Given the description of an element on the screen output the (x, y) to click on. 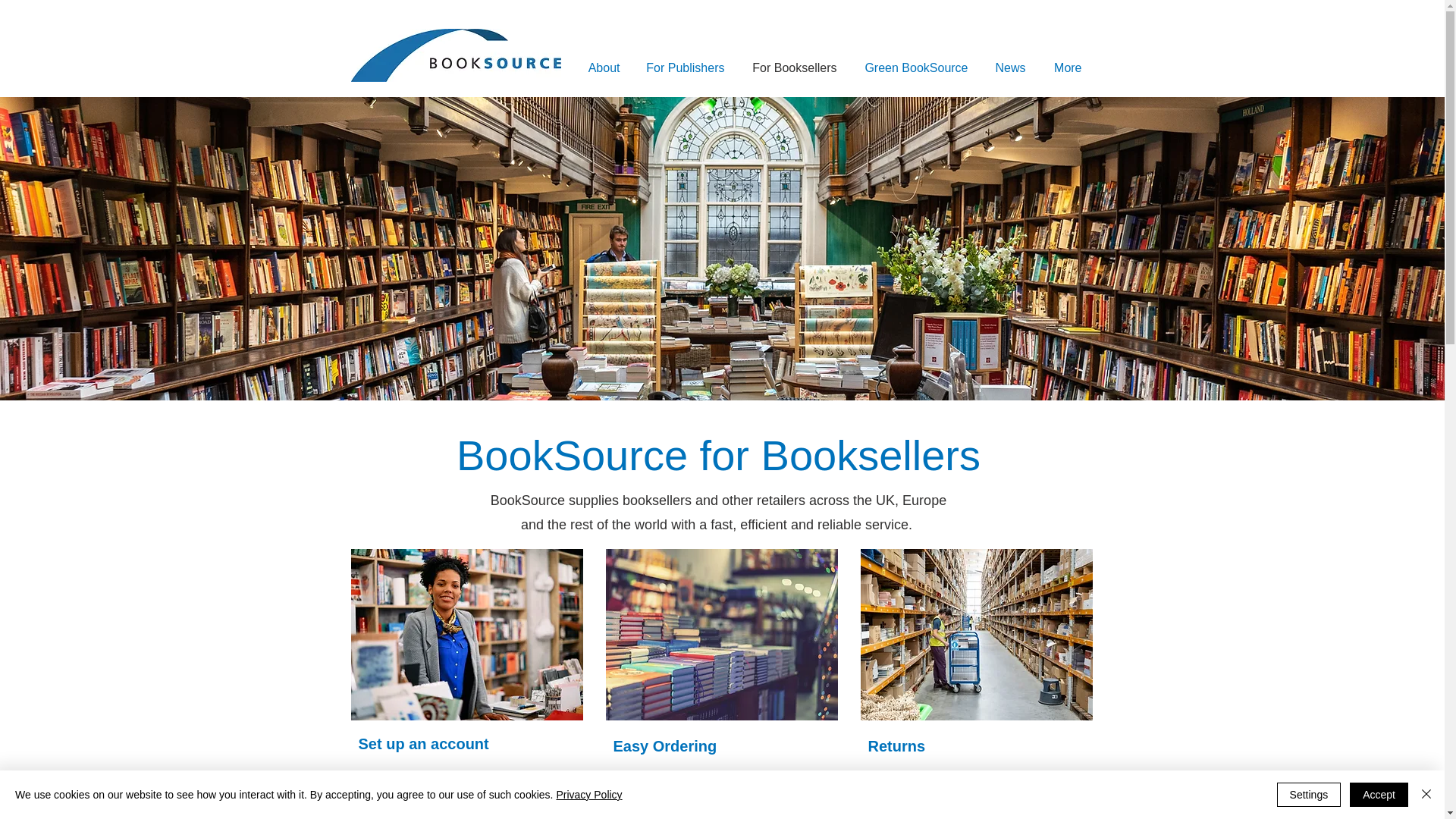
For Booksellers (791, 67)
News (1007, 67)
Green BookSource (912, 67)
For Publishers (682, 67)
here. (1044, 814)
this form (489, 802)
About (599, 67)
